Given the description of an element on the screen output the (x, y) to click on. 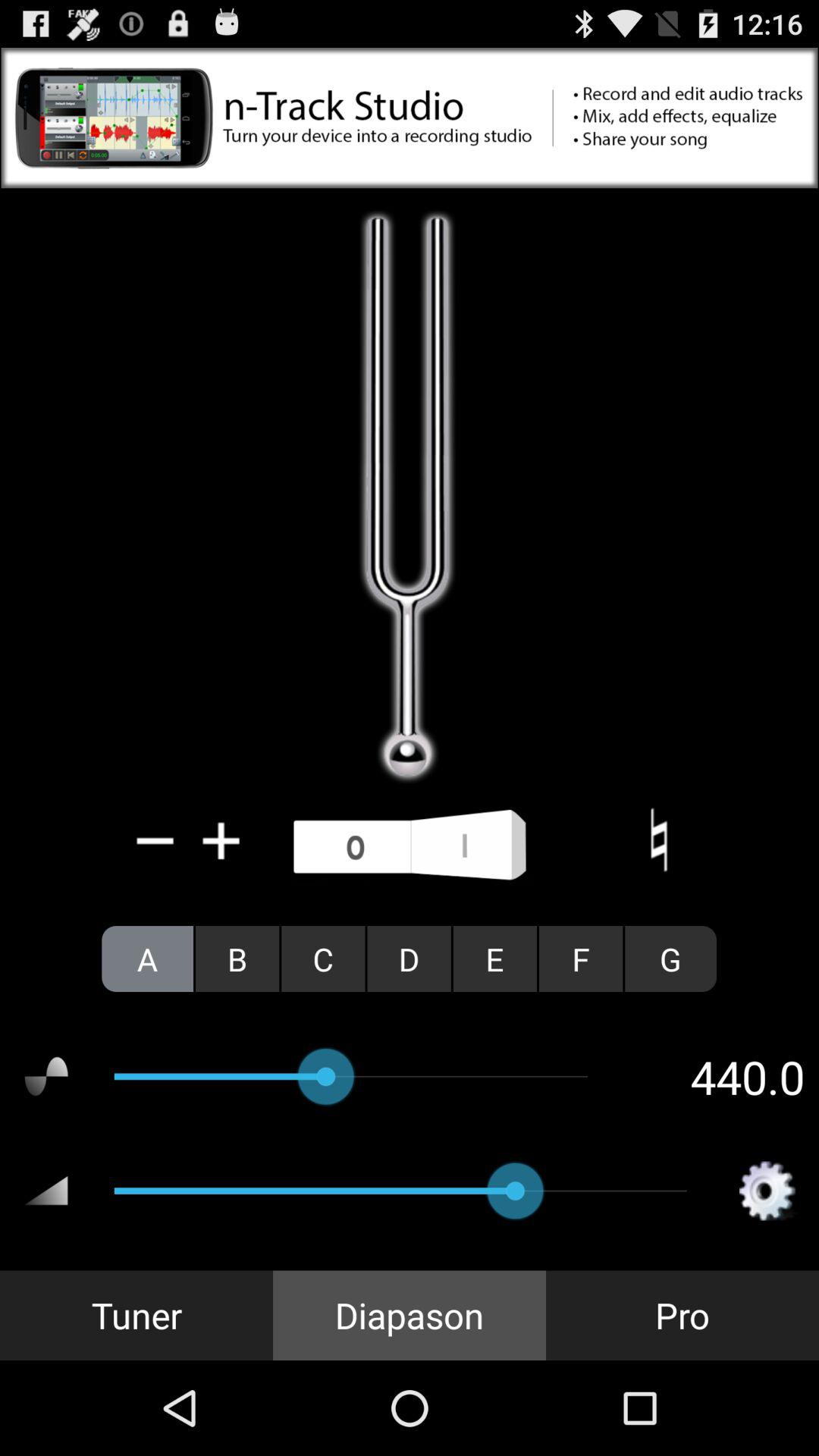
select the a icon (147, 958)
